Given the description of an element on the screen output the (x, y) to click on. 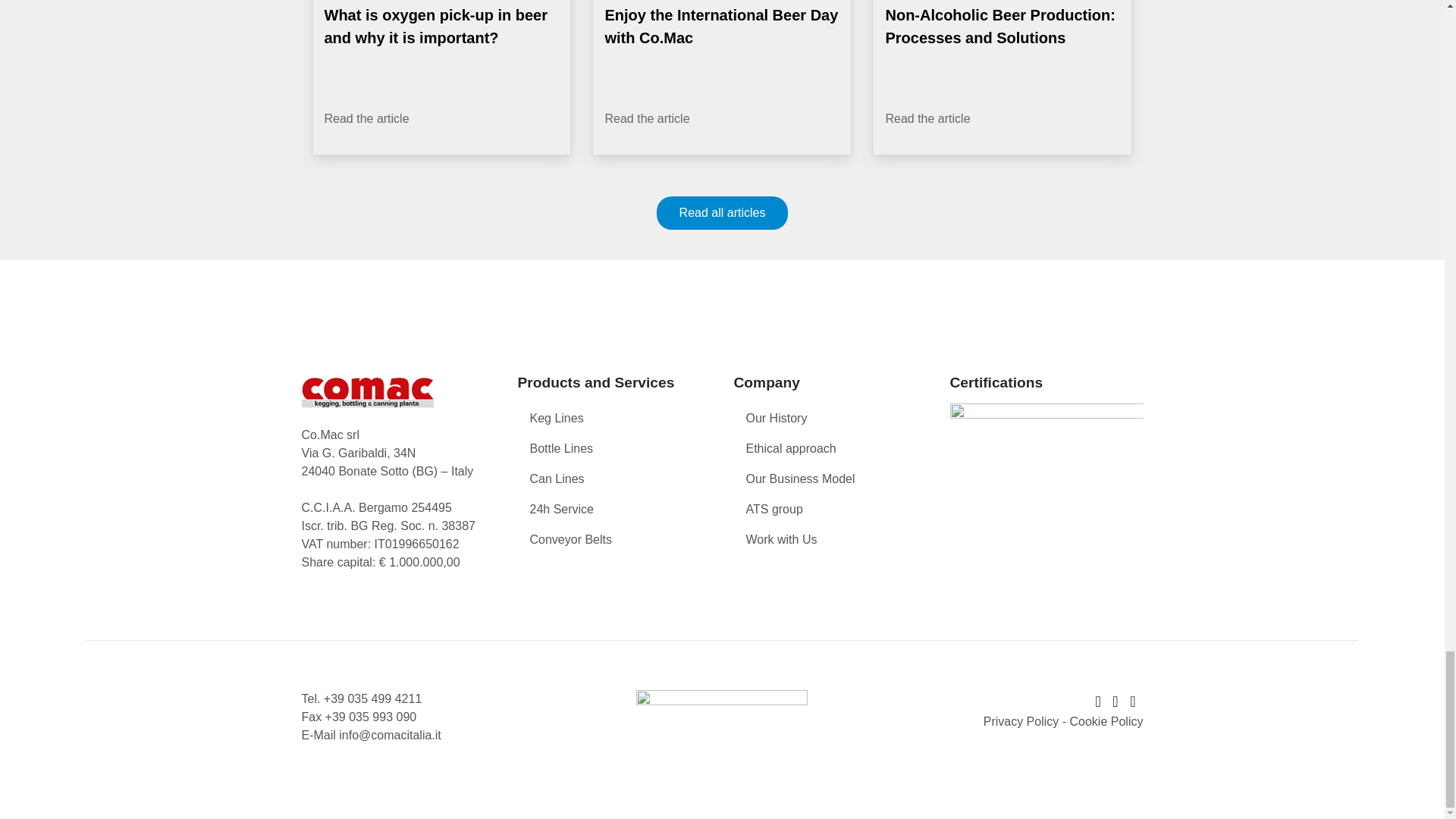
Privacy Policy  (1021, 721)
Cookie Policy  (1106, 721)
